Given the description of an element on the screen output the (x, y) to click on. 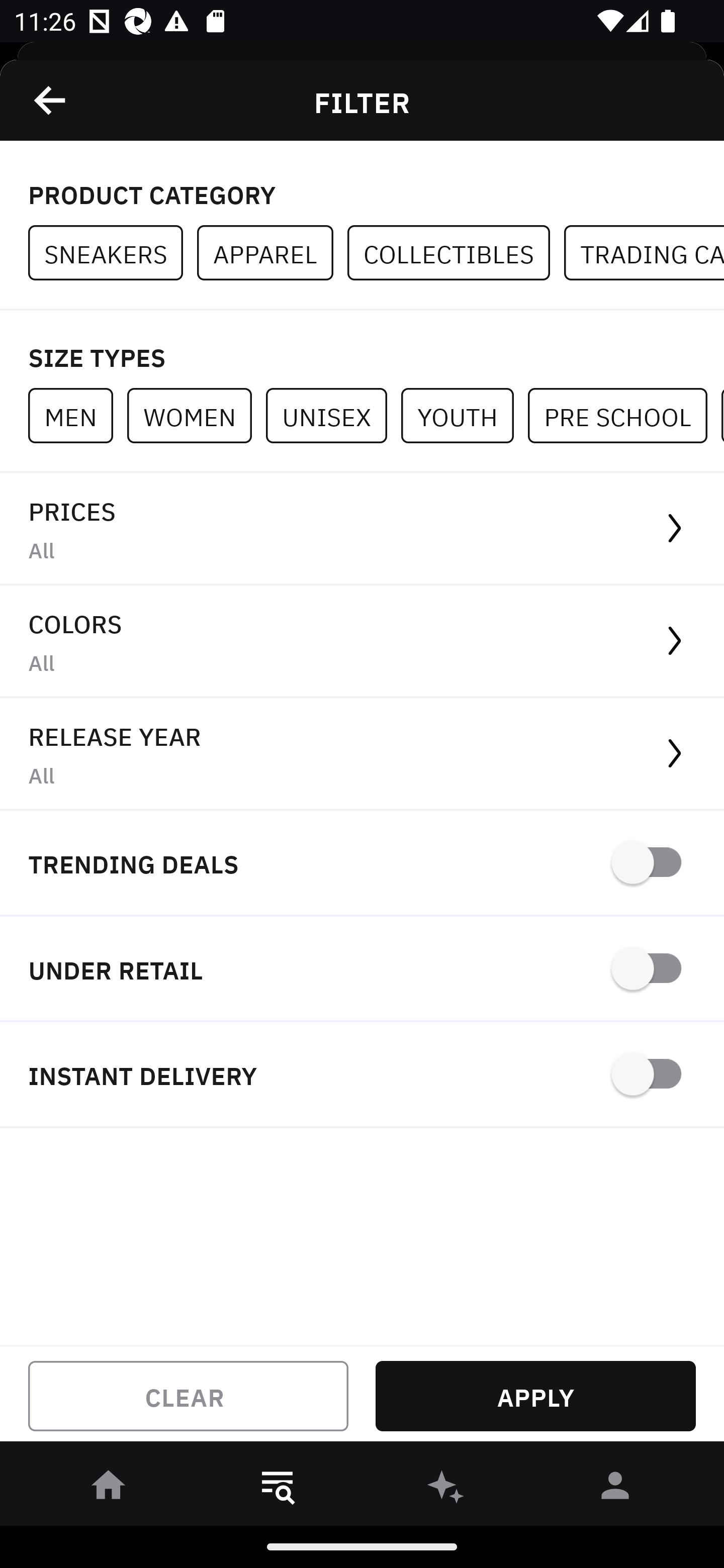
 (50, 100)
SNEAKERS (112, 252)
APPAREL (271, 252)
COLLECTIBLES (455, 252)
TRADING CARDS (643, 252)
MEN (77, 415)
WOMEN (196, 415)
UNISEX (333, 415)
YOUTH (464, 415)
PRE SCHOOL (624, 415)
PRICES All (362, 528)
COLORS All (362, 640)
RELEASE YEAR All (362, 753)
TRENDING DEALS (362, 863)
UNDER RETAIL (362, 969)
INSTANT DELIVERY (362, 1075)
CLEAR  (188, 1396)
APPLY (535, 1396)
󰋜 (108, 1488)
󱎸 (277, 1488)
󰫢 (446, 1488)
󰀄 (615, 1488)
